Given the description of an element on the screen output the (x, y) to click on. 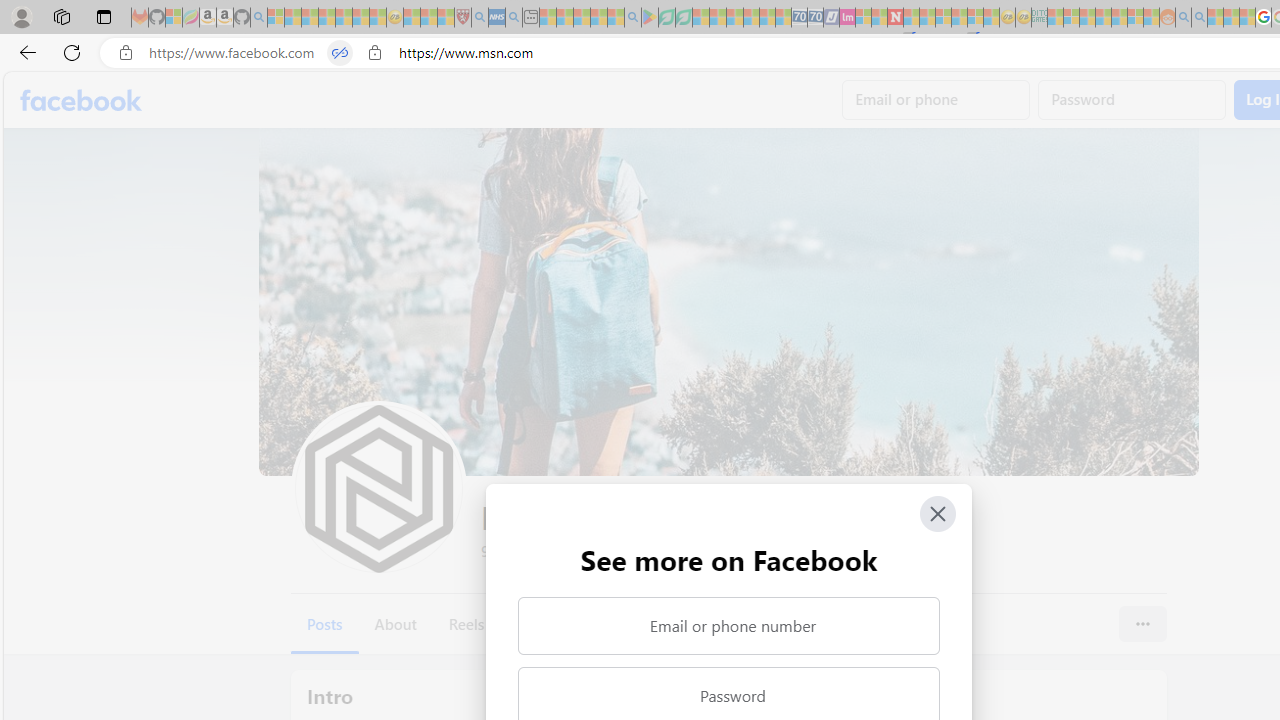
Facebook (81, 99)
Terms of Use Agreement - Sleeping (666, 17)
Personal Profile (21, 16)
Back (24, 52)
Close (938, 514)
